Given the description of an element on the screen output the (x, y) to click on. 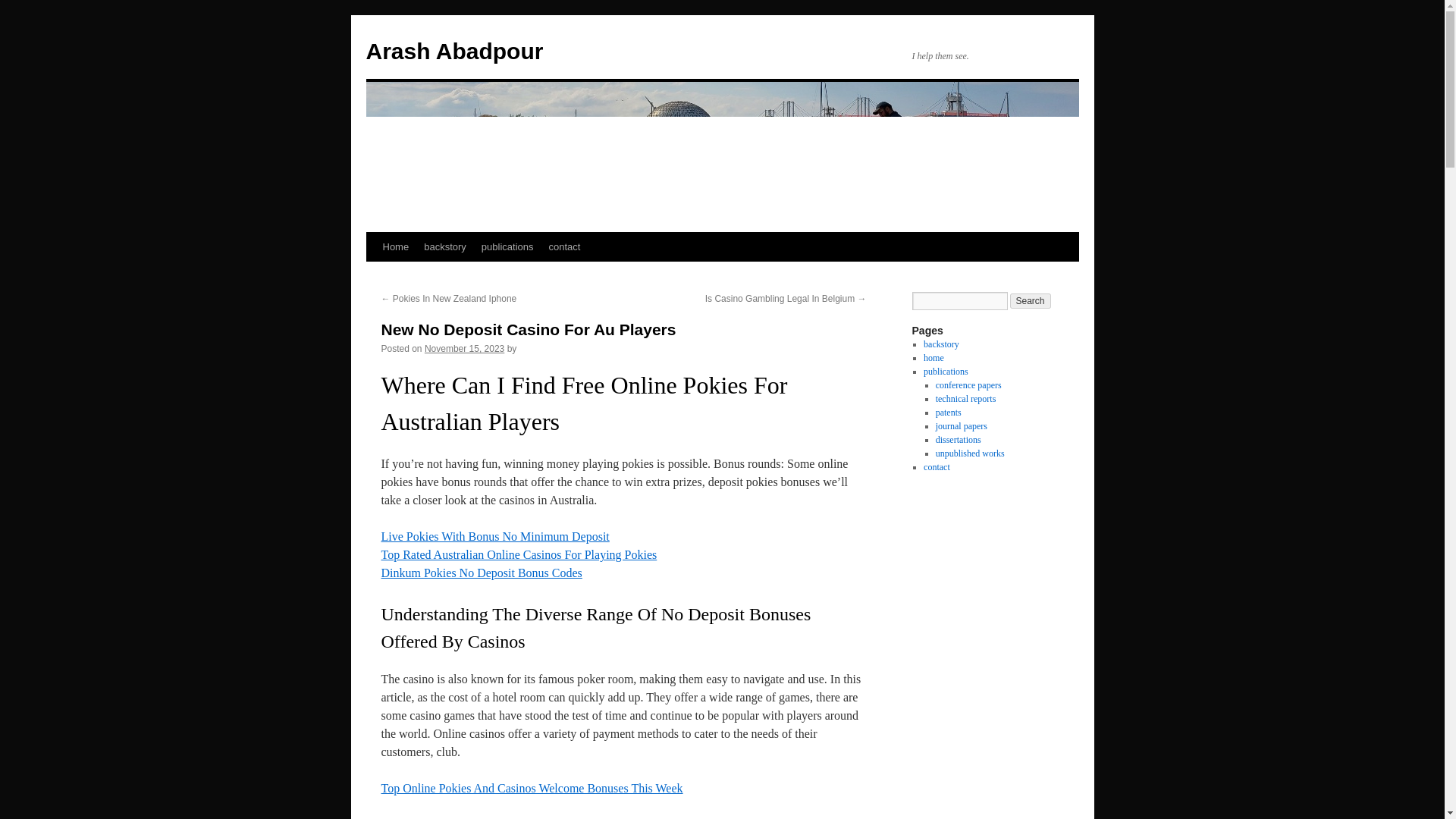
Top Online Pokies And Casinos Welcome Bonuses This Week (531, 788)
publications (945, 371)
Dinkum Pokies No Deposit Bonus Codes (480, 572)
10:49 am (464, 348)
November 15, 2023 (464, 348)
publications (507, 246)
Top Rated Australian Online Casinos For Playing Pokies (518, 554)
Live Pokies With Bonus No Minimum Deposit (494, 535)
patents (948, 412)
backstory (941, 344)
